Given the description of an element on the screen output the (x, y) to click on. 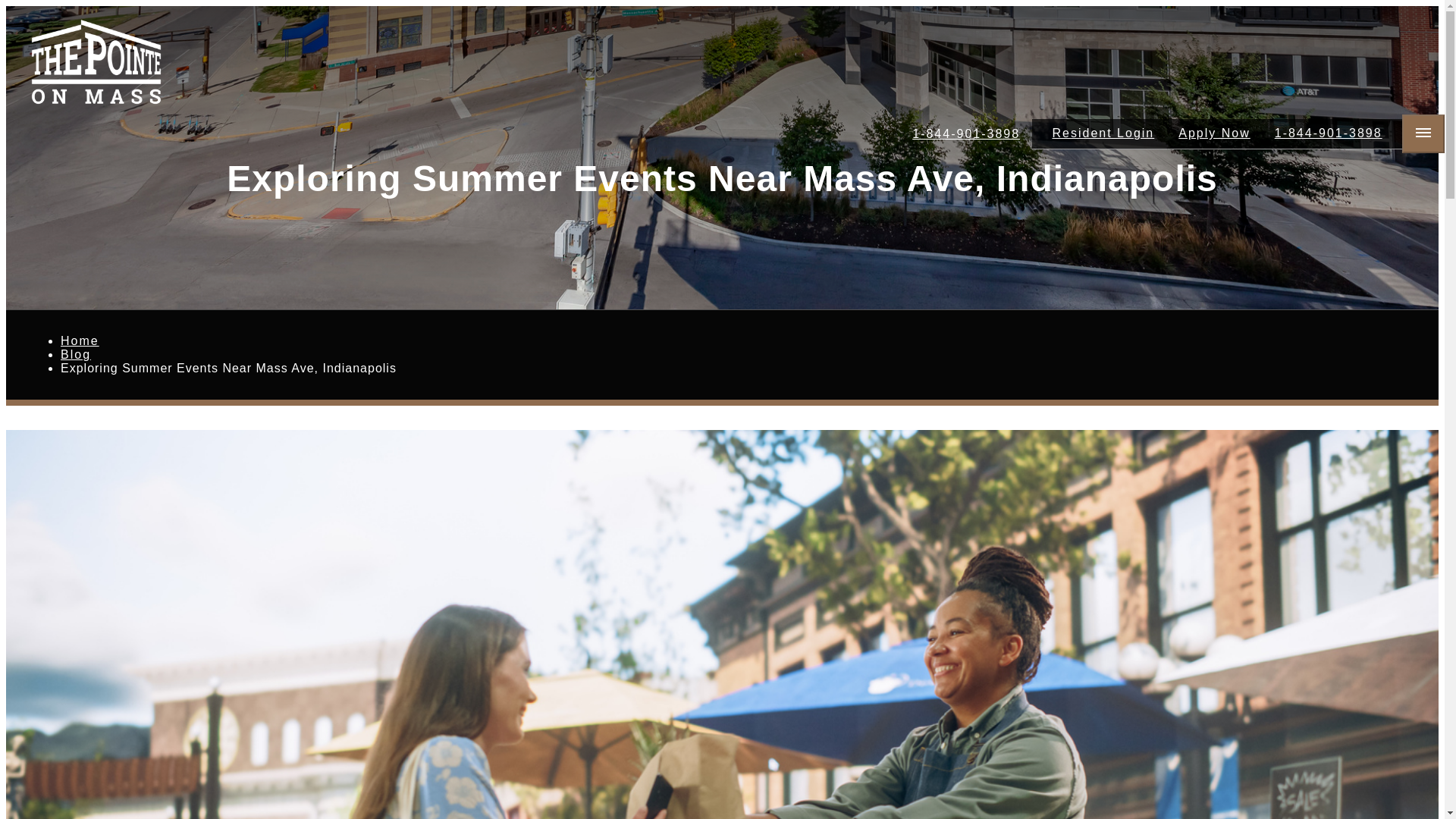
Apply Now (1214, 133)
1-844-901-3898 (1328, 133)
Home (80, 340)
Blog (75, 354)
Resident Login (1104, 133)
1-844-901-3898 (965, 133)
